Given the description of an element on the screen output the (x, y) to click on. 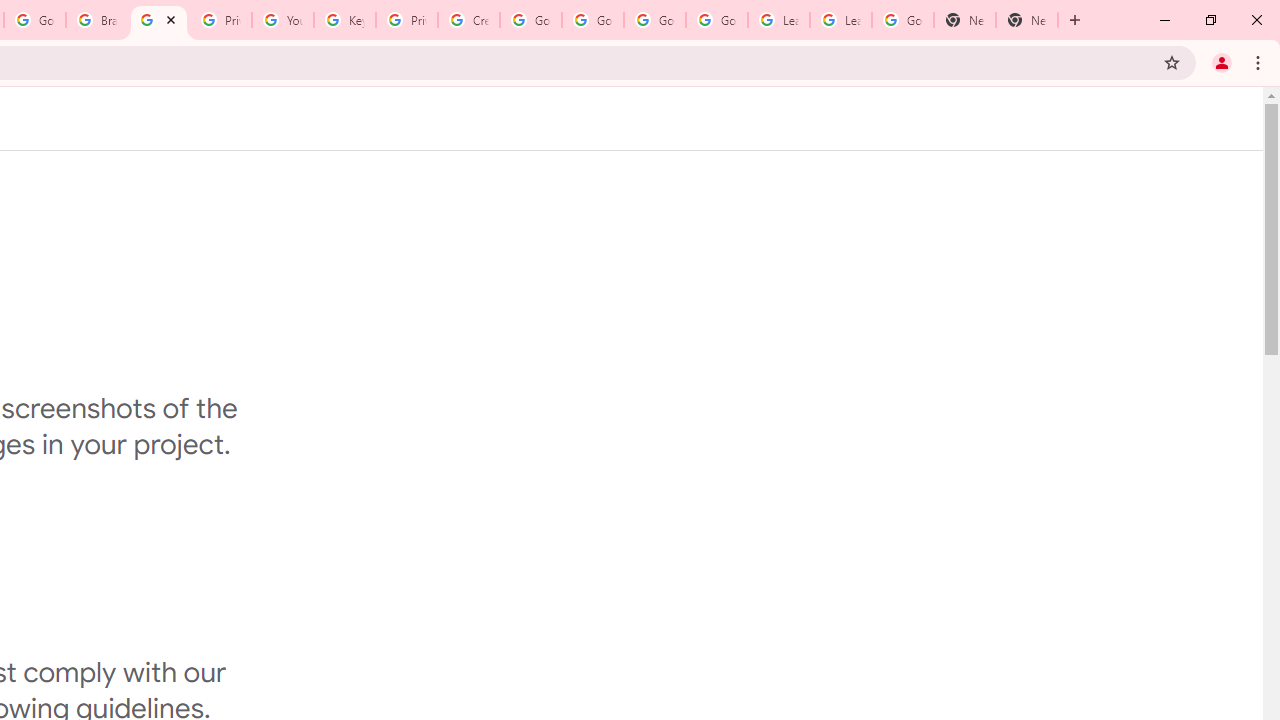
YouTube (282, 20)
New Tab (964, 20)
Brand Resource Center (96, 20)
Google Account (902, 20)
New Tab (1026, 20)
Create your Google Account (468, 20)
